Given the description of an element on the screen output the (x, y) to click on. 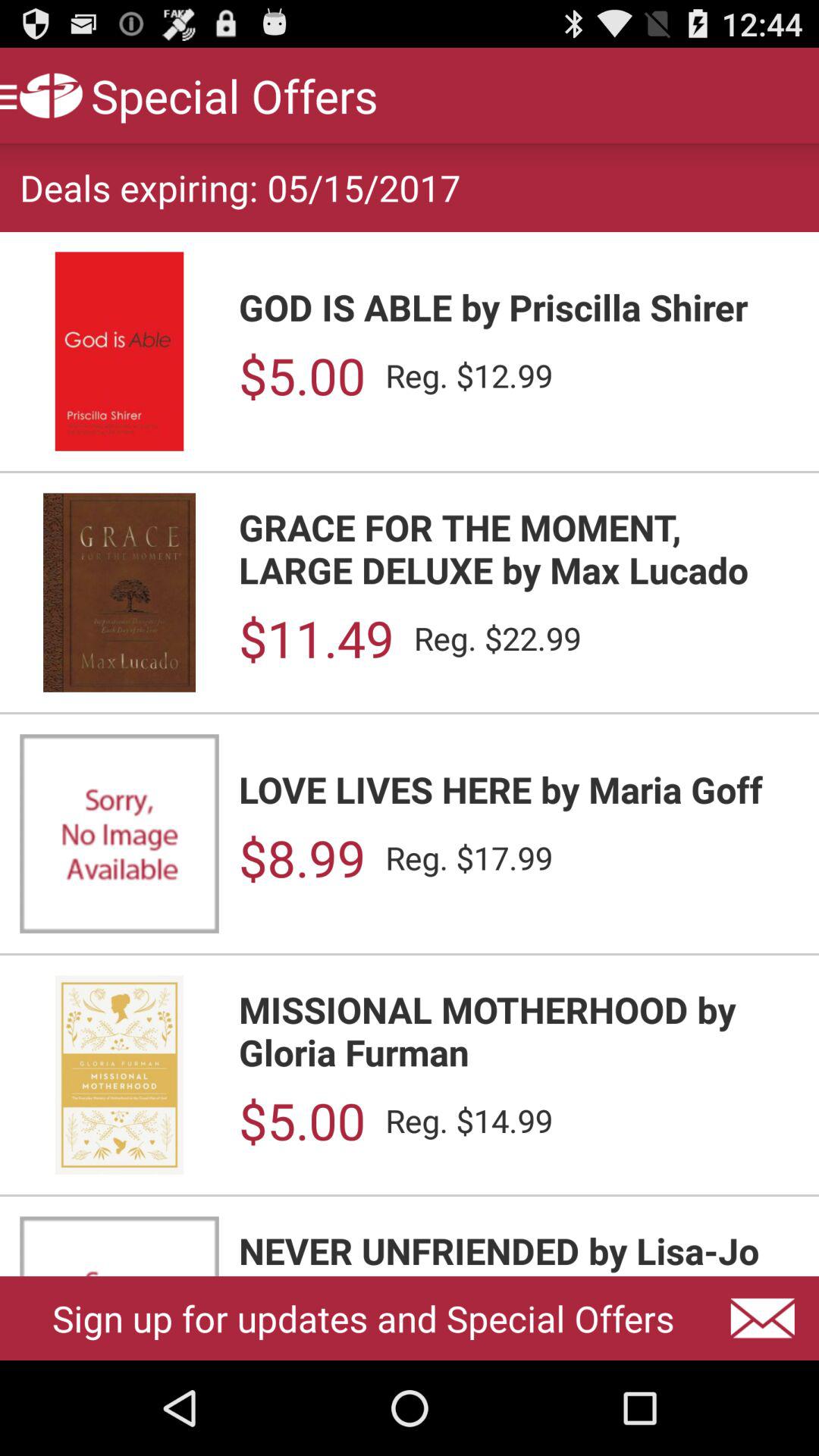
jump to deals expiring 05 app (239, 187)
